Given the description of an element on the screen output the (x, y) to click on. 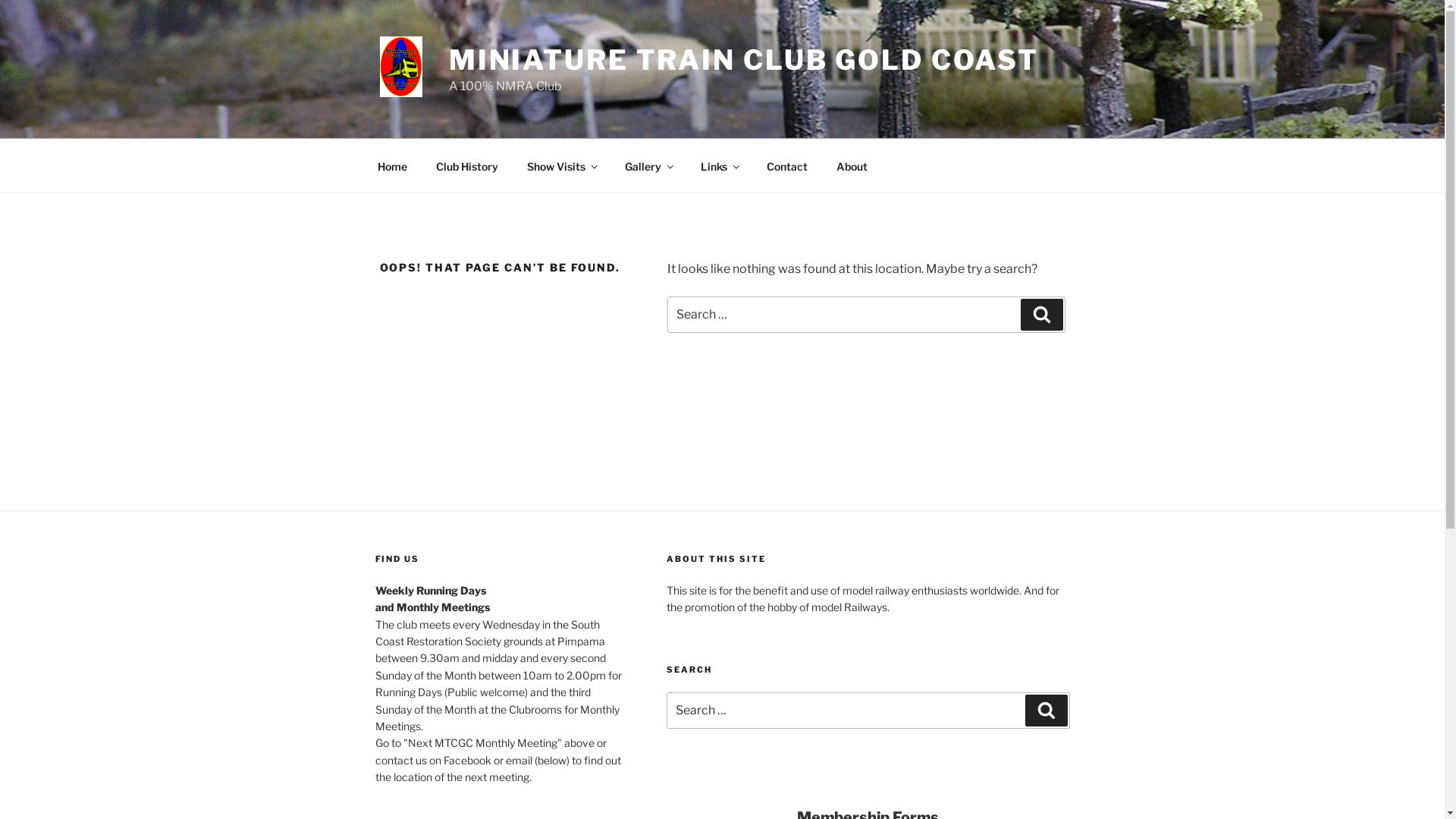
Search Element type: text (1041, 314)
Contact Element type: text (787, 165)
Links Element type: text (718, 165)
MINIATURE TRAIN CLUB GOLD COAST Element type: text (743, 59)
Gallery Element type: text (647, 165)
Club History Element type: text (467, 165)
Home Element type: text (392, 165)
About Element type: text (852, 165)
Search Element type: text (1046, 710)
Show Visits Element type: text (561, 165)
